Given the description of an element on the screen output the (x, y) to click on. 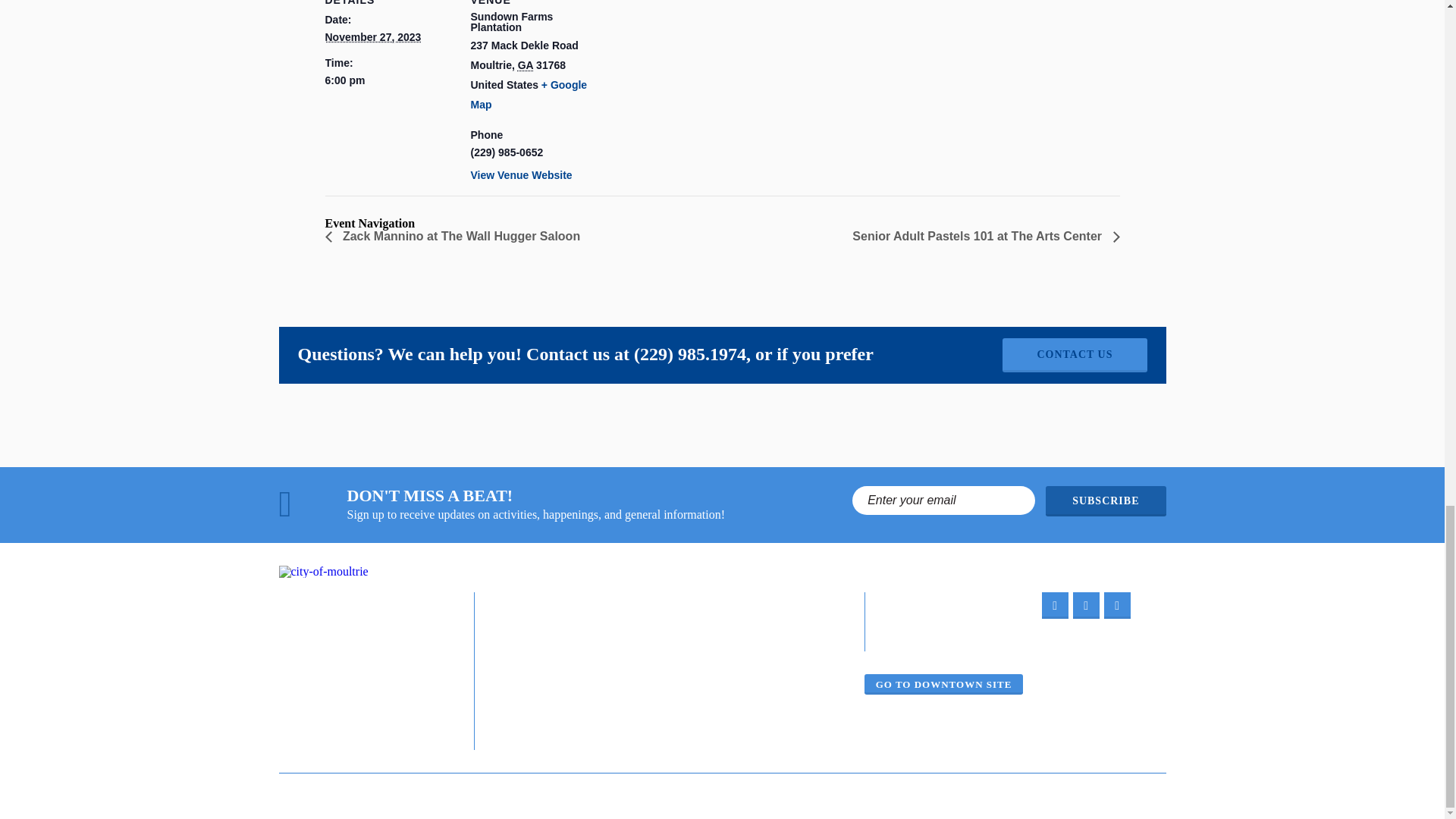
City of Moultrie (323, 571)
2023-11-27 (372, 37)
Georgia (525, 64)
Enter your email (943, 500)
Subscribe (1105, 501)
2023-11-27 (387, 80)
Click to view a Google Map (528, 94)
